Given the description of an element on the screen output the (x, y) to click on. 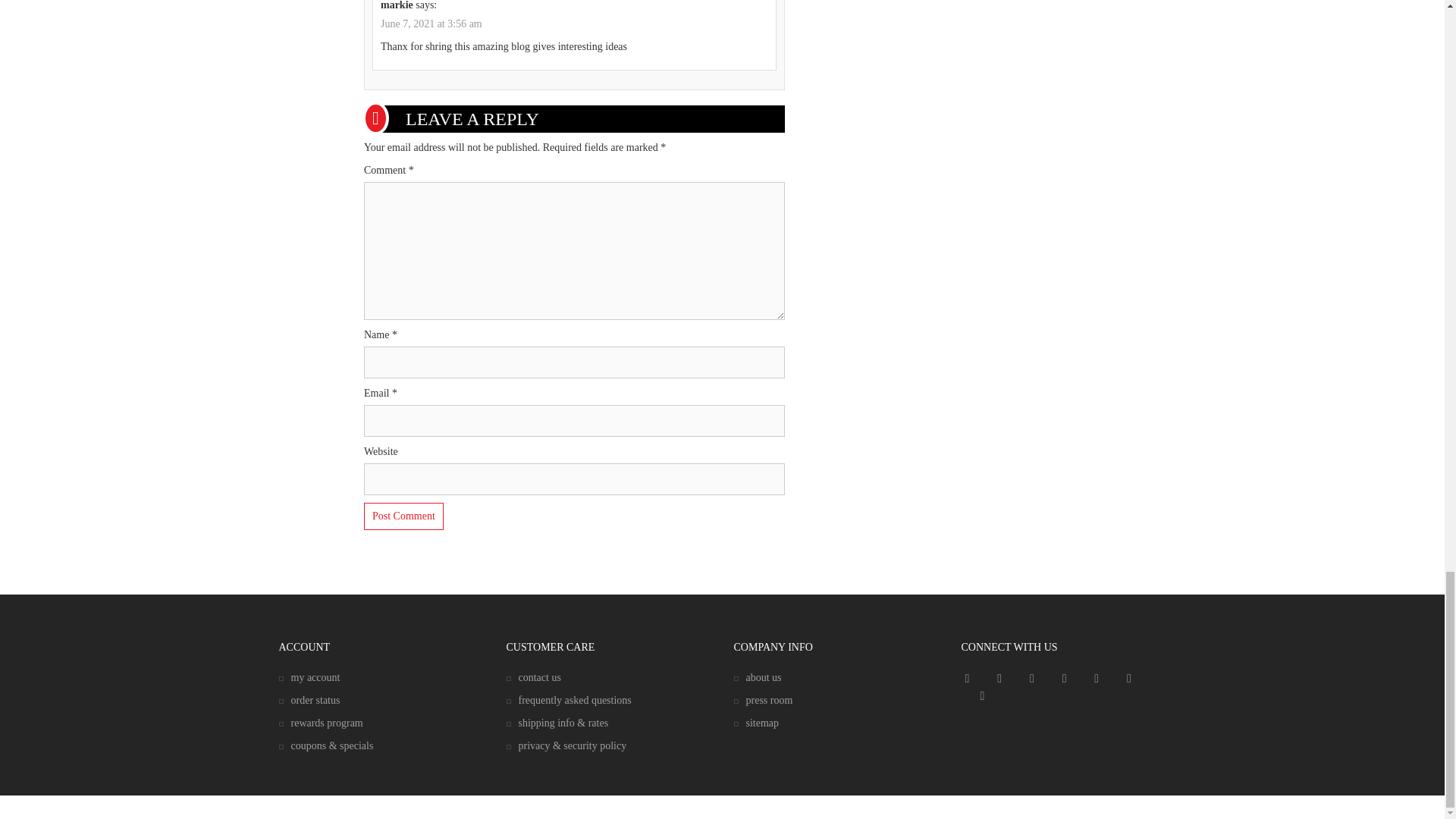
Post Comment (404, 515)
Frequently Asked Questions (568, 699)
About MemorableGifts.com (757, 677)
MemorableGifts.com Press Room (763, 699)
Memorable Gifts Sitemap (755, 722)
MemorableGifts.com Exclusive Special Offers (326, 745)
Contact Us (533, 677)
